Given the description of an element on the screen output the (x, y) to click on. 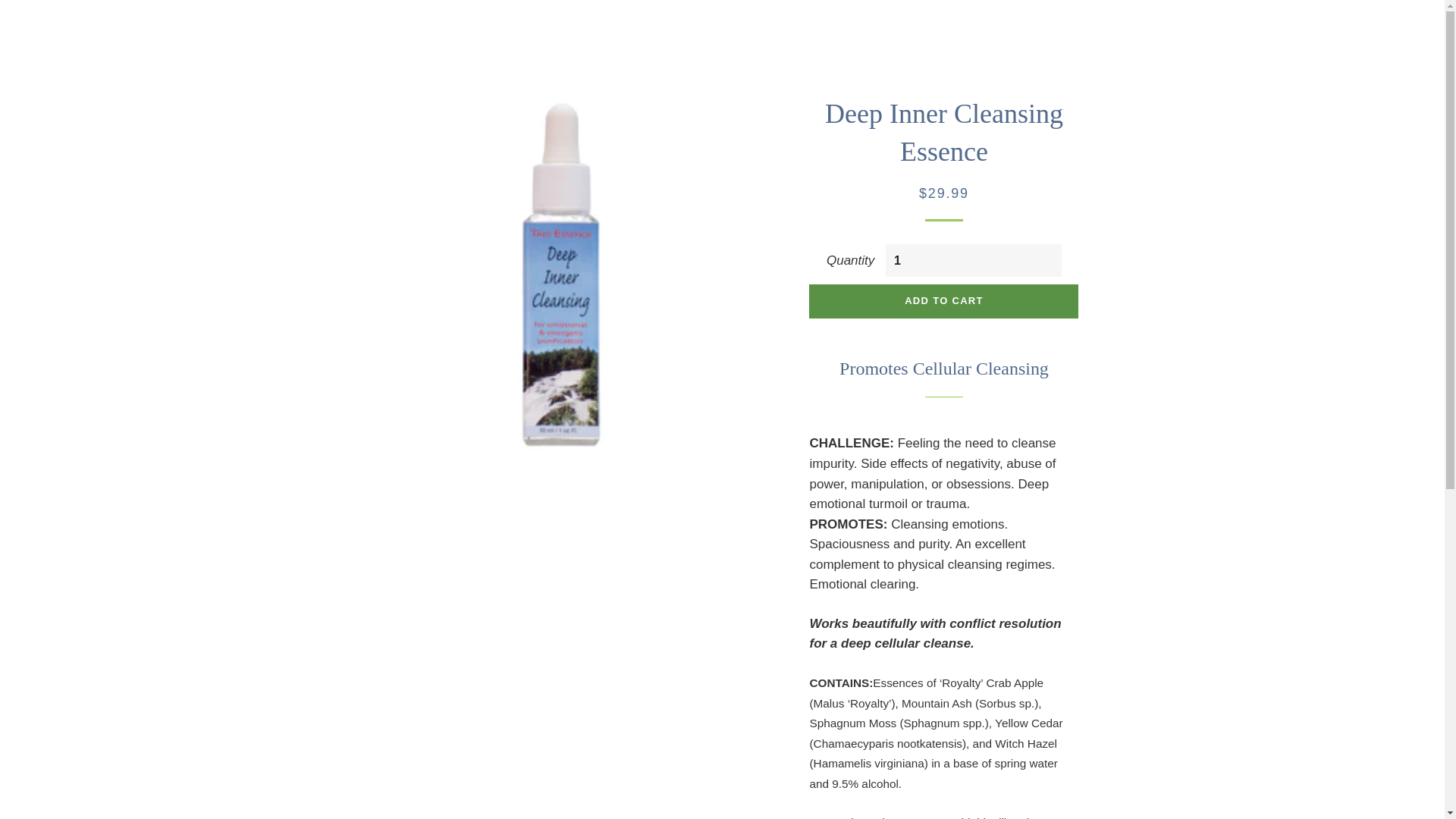
ADD TO CART Element type: text (943, 300)
